Given the description of an element on the screen output the (x, y) to click on. 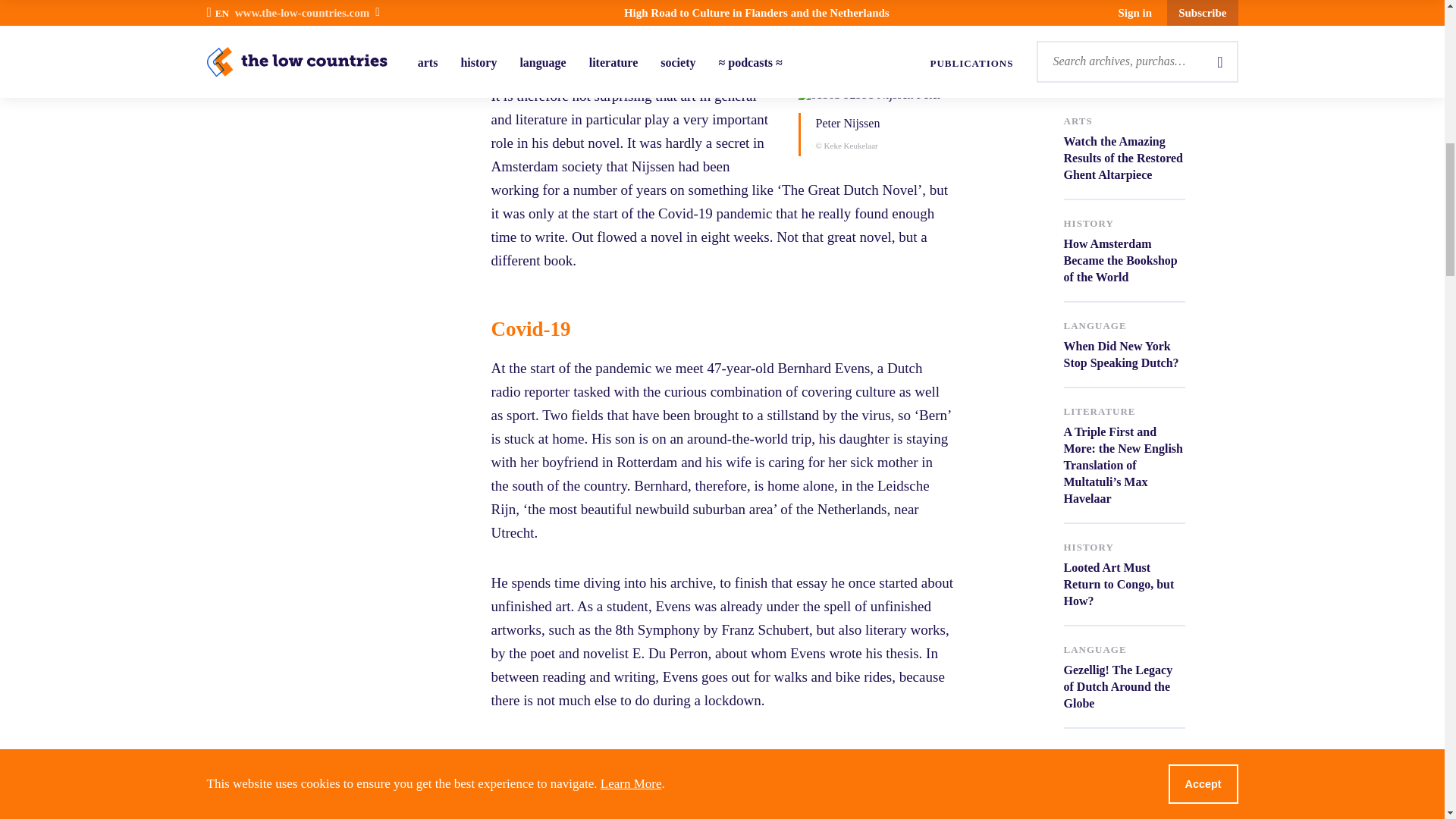
61b03 92991 Nijssen Peter (913, 94)
